Given the description of an element on the screen output the (x, y) to click on. 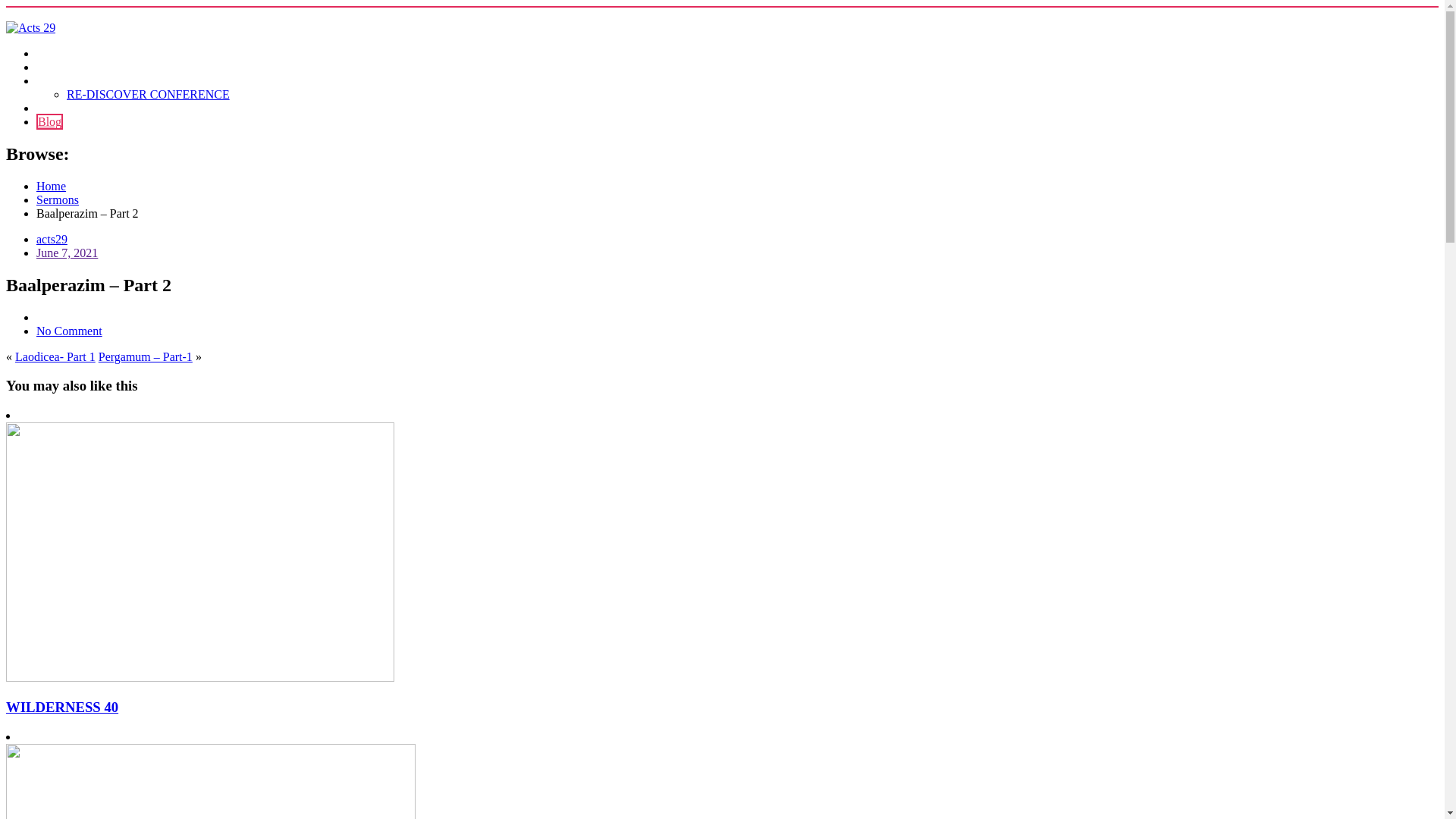
Sermons Element type: text (57, 199)
sermons Element type: text (56, 80)
WILDERNESS 40 Element type: text (62, 707)
Home Element type: text (50, 185)
Home Element type: text (50, 53)
Laodicea- Part 1 Element type: text (55, 356)
Blog Element type: text (49, 121)
acts29 Element type: text (51, 238)
Videos Element type: text (52, 107)
No Comment Element type: text (69, 330)
RE-DISCOVER CONFERENCE Element type: text (147, 93)
June 7, 2021 Element type: text (66, 252)
Notes Element type: text (50, 66)
